Given the description of an element on the screen output the (x, y) to click on. 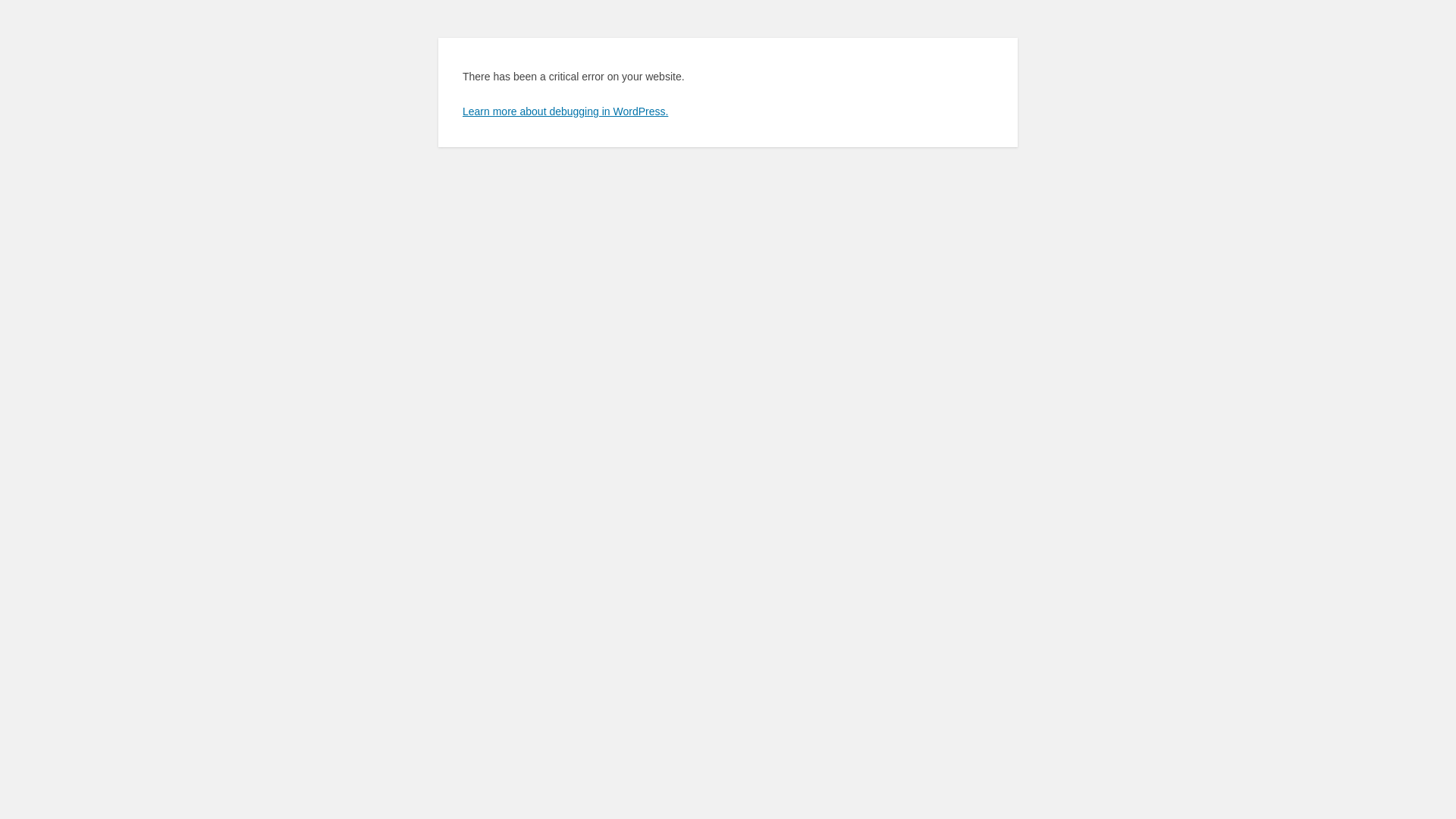
Learn more about debugging in WordPress. Element type: text (565, 111)
